Given the description of an element on the screen output the (x, y) to click on. 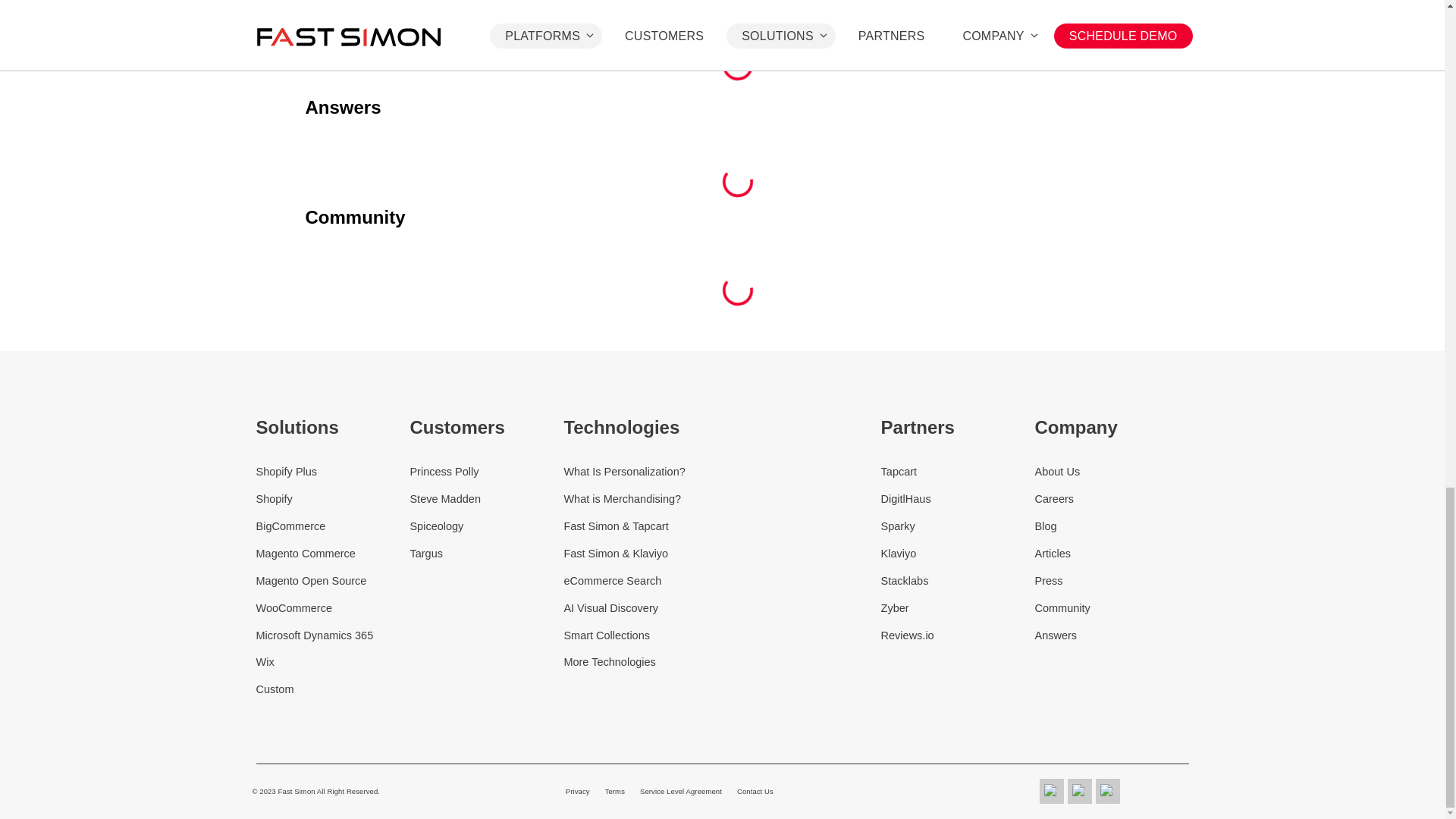
Wix (333, 662)
WooCommerce (333, 608)
Microsoft Dynamics 365 (333, 635)
Magento Commerce (333, 553)
Custom (333, 689)
Magento Open Source (333, 581)
Shopify (333, 499)
Customers (486, 427)
Shopify Plus (333, 472)
BigCommerce (333, 526)
